Given the description of an element on the screen output the (x, y) to click on. 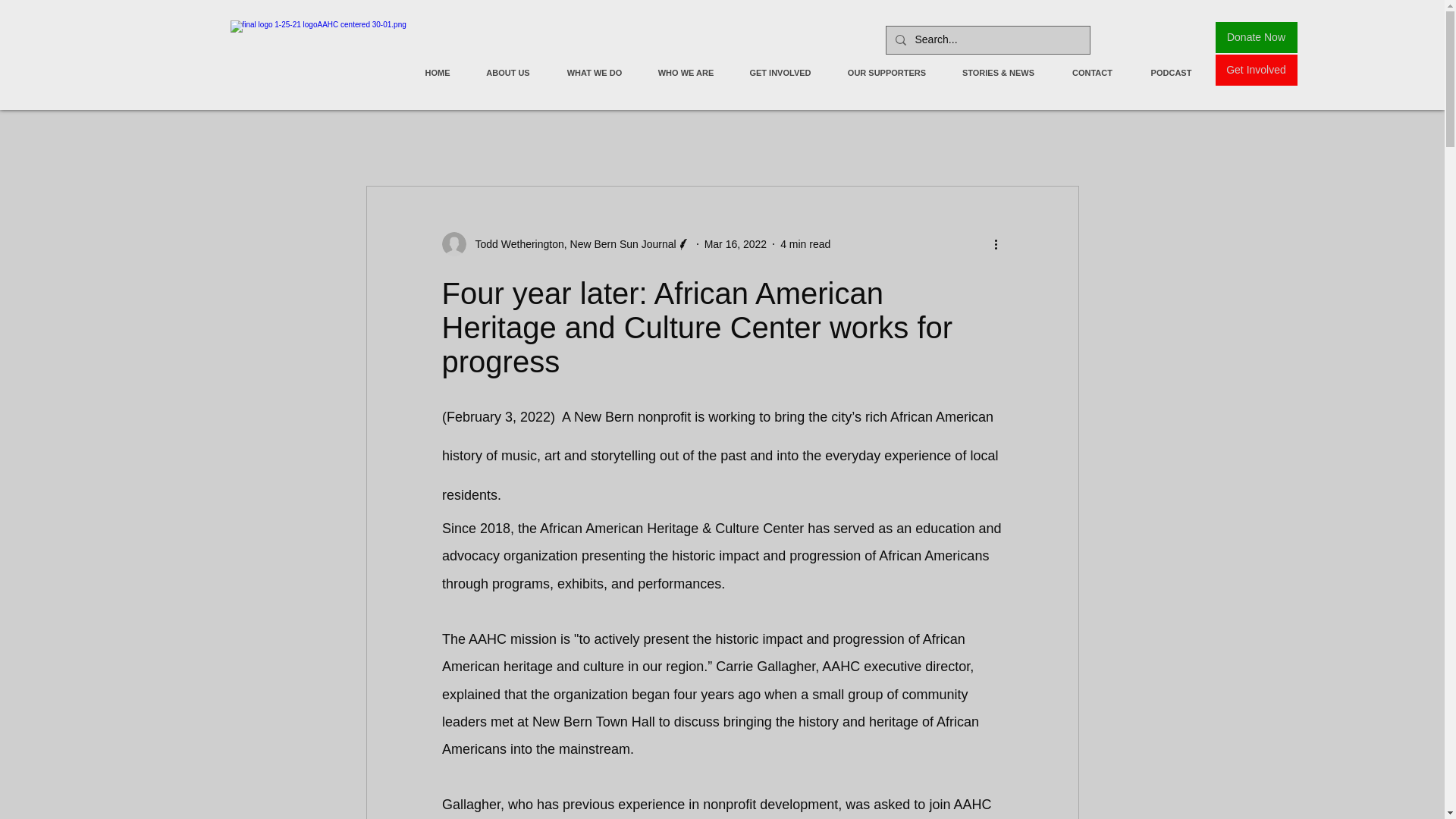
4 min read (804, 244)
WHO WE ARE (685, 72)
PODCAST (1170, 72)
Mar 16, 2022 (735, 244)
ABOUT US (507, 72)
OUR SUPPORTERS (886, 72)
Get Involved (1255, 69)
Todd Wetherington, New Bern Sun Journal (565, 243)
Donate Now (1255, 37)
GET INVOLVED (779, 72)
